Given the description of an element on the screen output the (x, y) to click on. 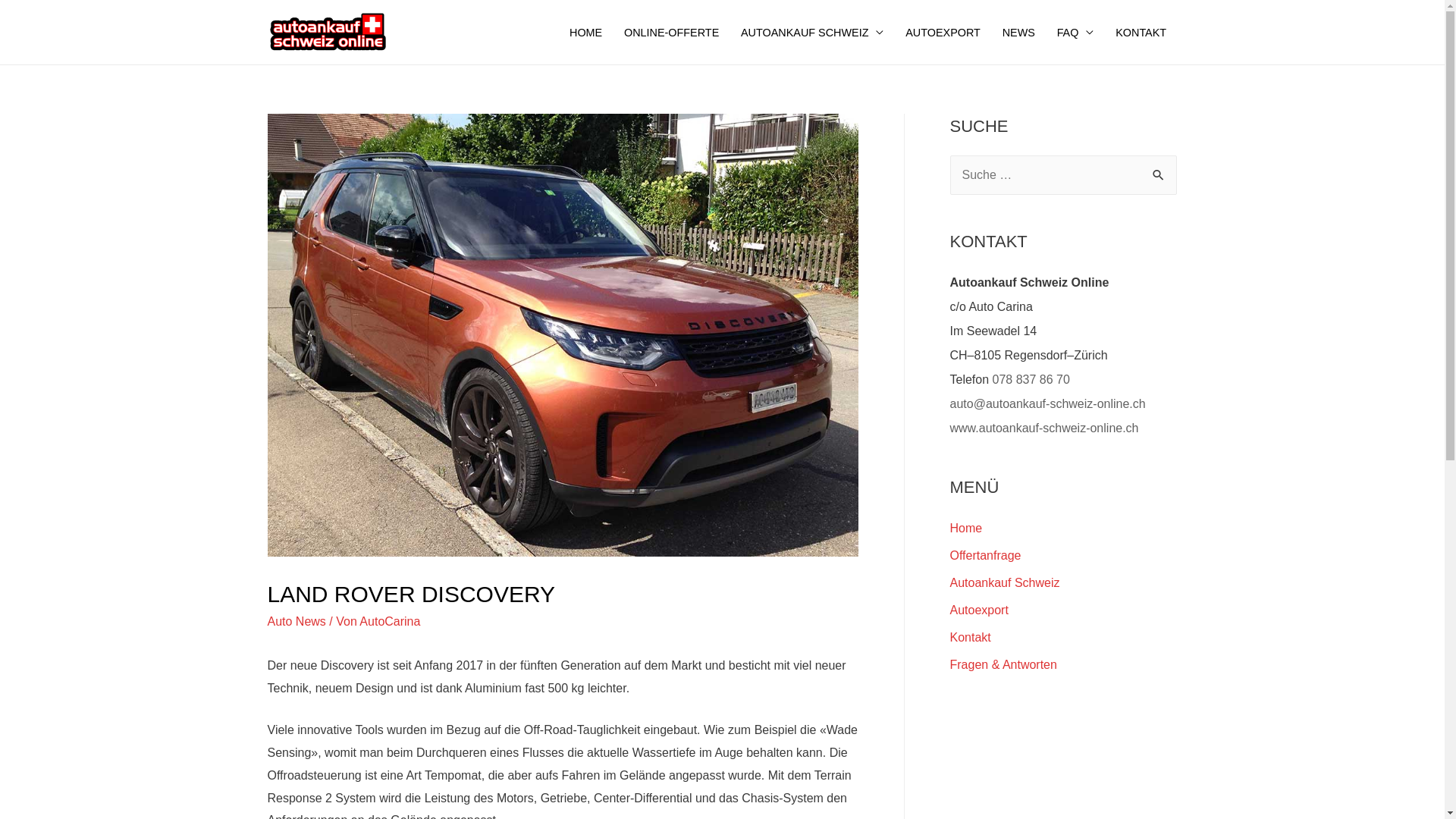
ONLINE-OFFERTE Element type: text (671, 32)
Home Element type: text (965, 527)
NEWS Element type: text (1018, 32)
auto@autoankauf-schweiz-online.ch Element type: text (1047, 403)
Autoankauf Schweiz Element type: text (1004, 582)
www.autoankauf-schweiz-online.ch Element type: text (1043, 427)
078 837 86 70 Element type: text (1031, 379)
KONTAKT Element type: text (1140, 32)
Auto News Element type: text (295, 621)
AUTOEXPORT Element type: text (942, 32)
AUTOANKAUF SCHWEIZ Element type: text (812, 32)
Suche Element type: text (1159, 171)
Autoexport Element type: text (978, 609)
Fragen & Antworten Element type: text (1002, 664)
Offertanfrage Element type: text (984, 555)
AutoCarina Element type: text (389, 621)
FAQ Element type: text (1074, 32)
Kontakt Element type: text (969, 636)
HOME Element type: text (585, 32)
